Given the description of an element on the screen output the (x, y) to click on. 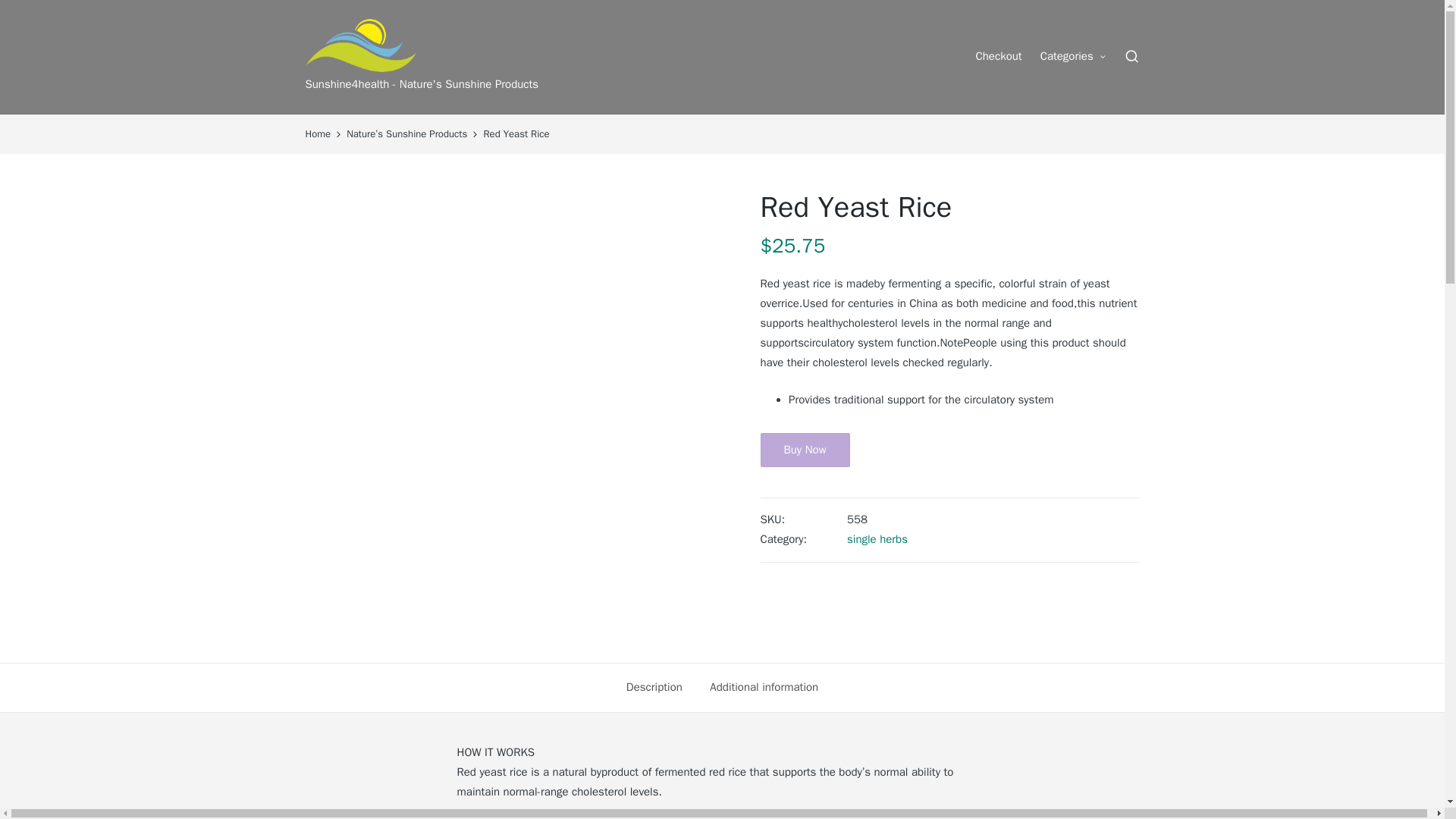
Buy Now (804, 449)
single herbs (877, 539)
Checkout (998, 56)
Home (317, 134)
Categories (1073, 56)
Description (654, 687)
